Given the description of an element on the screen output the (x, y) to click on. 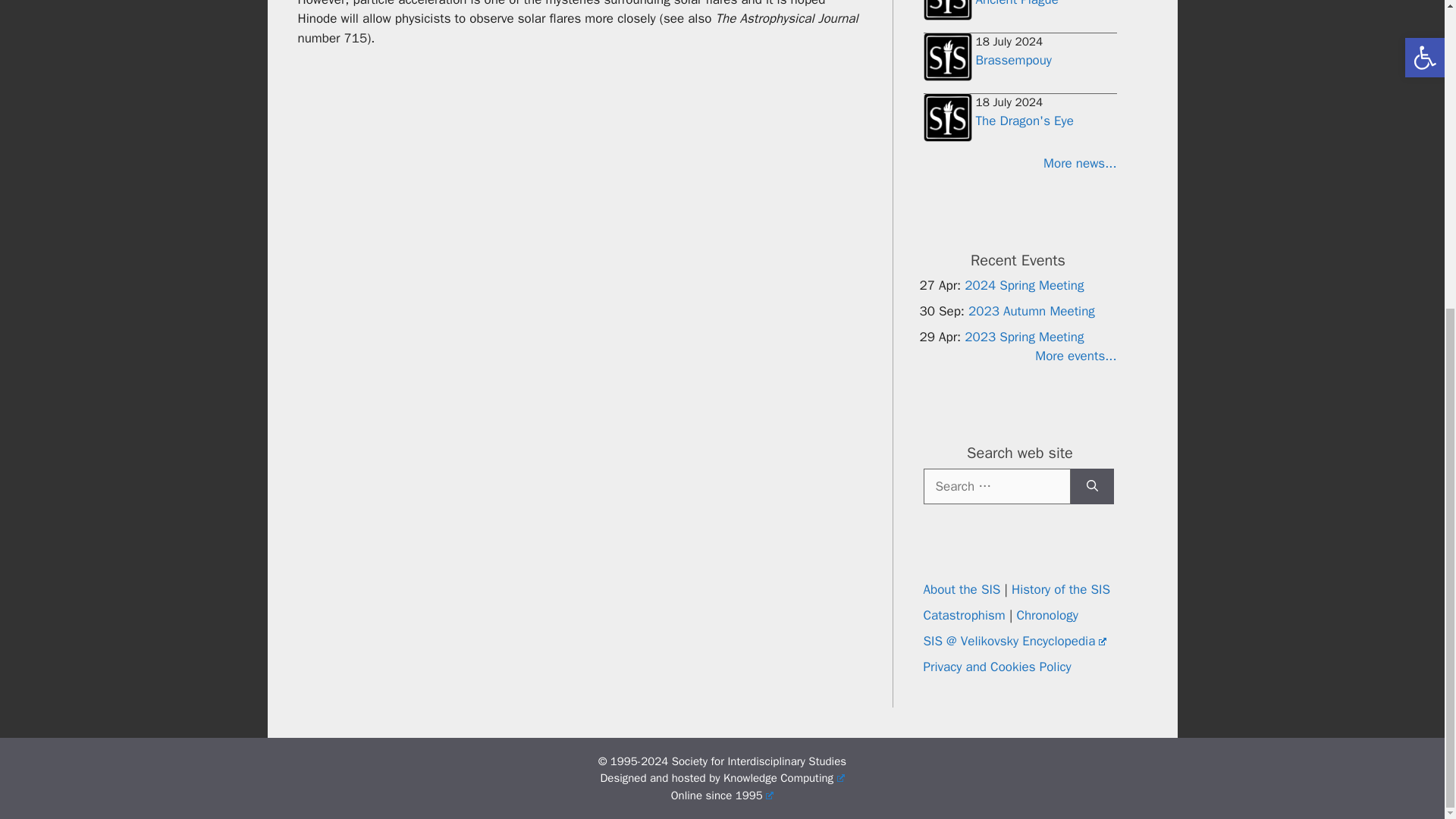
Search for: (996, 485)
